Given the description of an element on the screen output the (x, y) to click on. 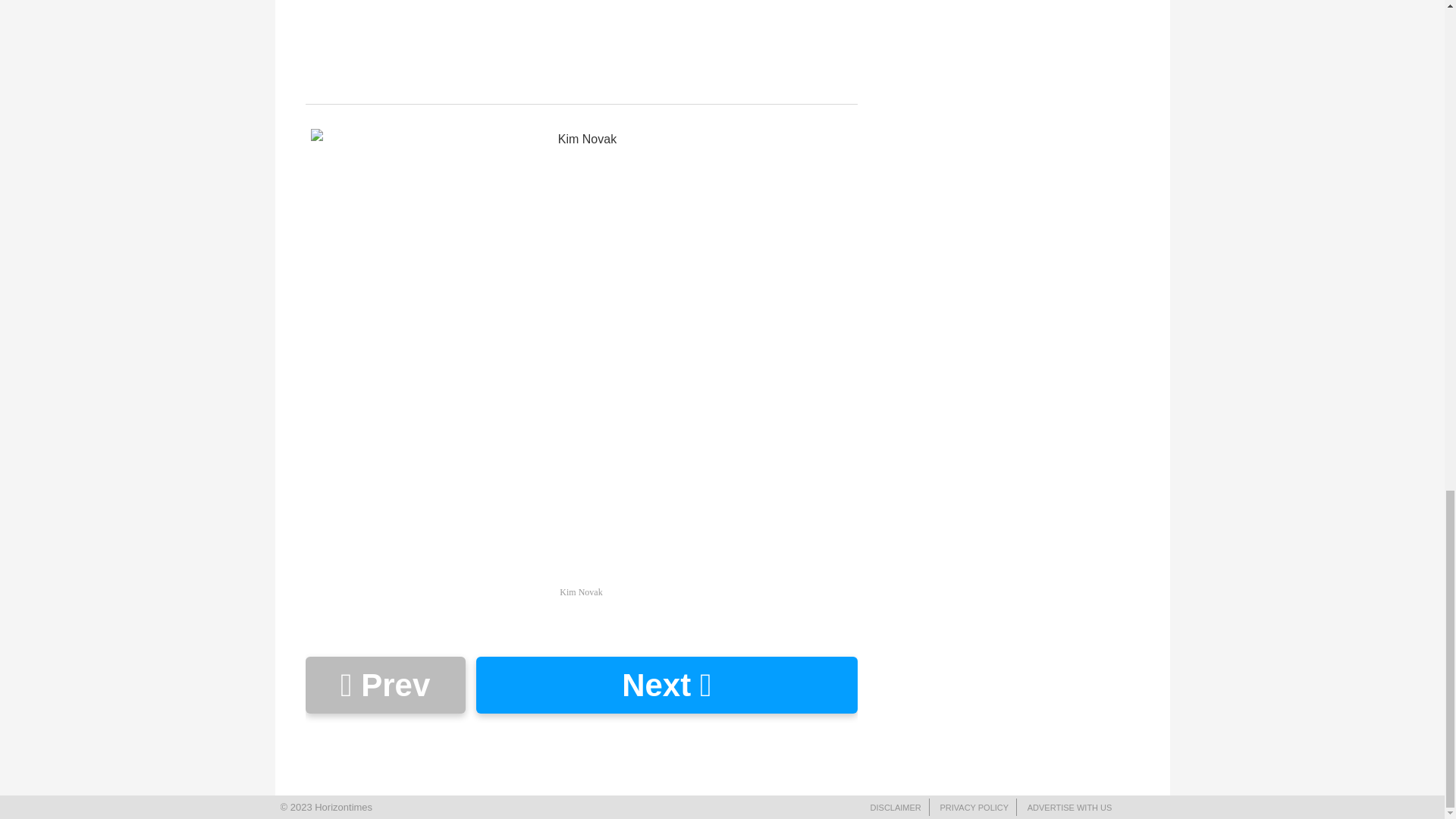
DISCLAIMER (895, 807)
Next (666, 684)
PRIVACY POLICY (974, 807)
Prev (384, 684)
ADVERTISE WITH US (1069, 807)
